Given the description of an element on the screen output the (x, y) to click on. 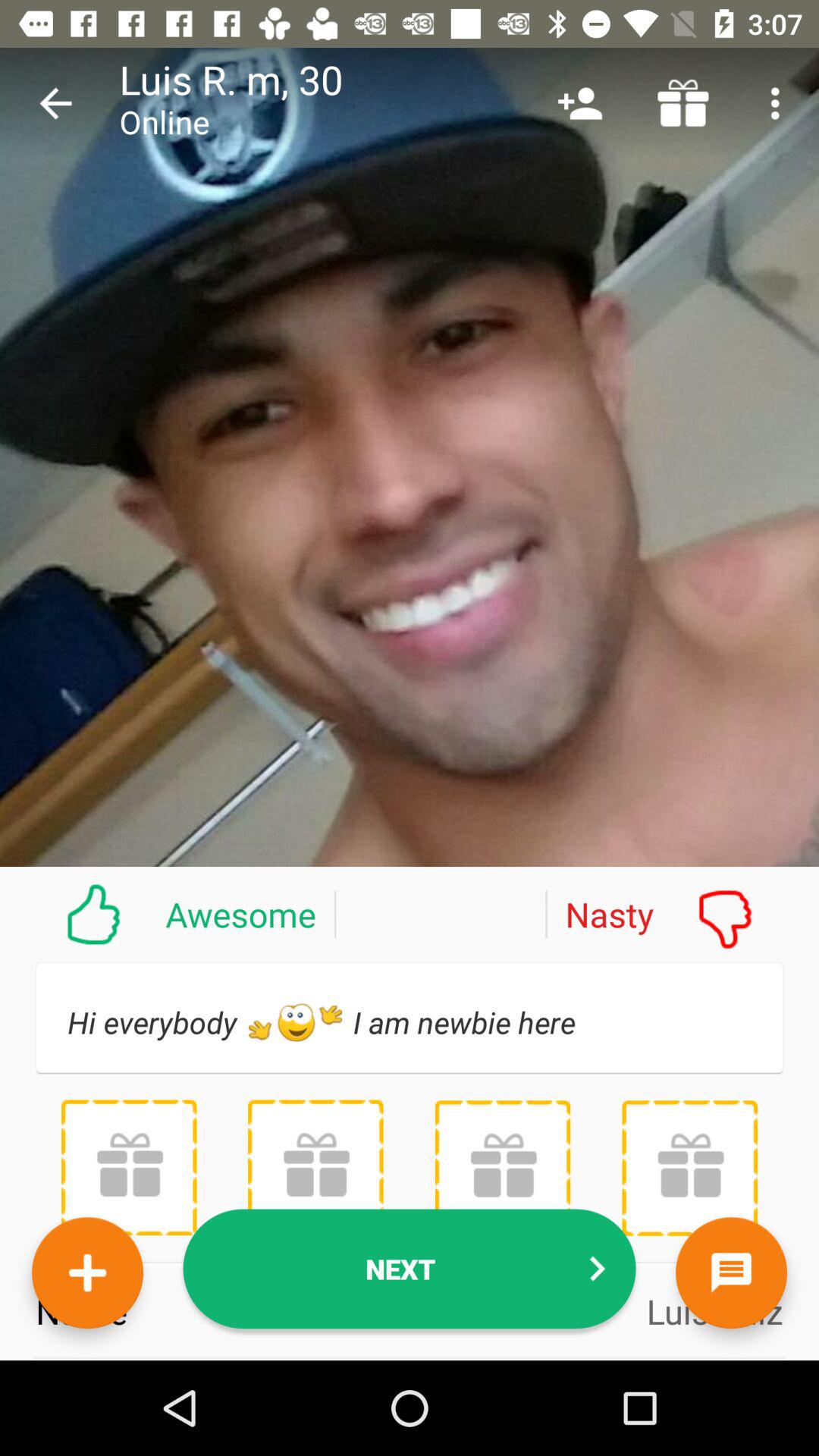
open the item below hi everybody h (128, 1167)
